Given the description of an element on the screen output the (x, y) to click on. 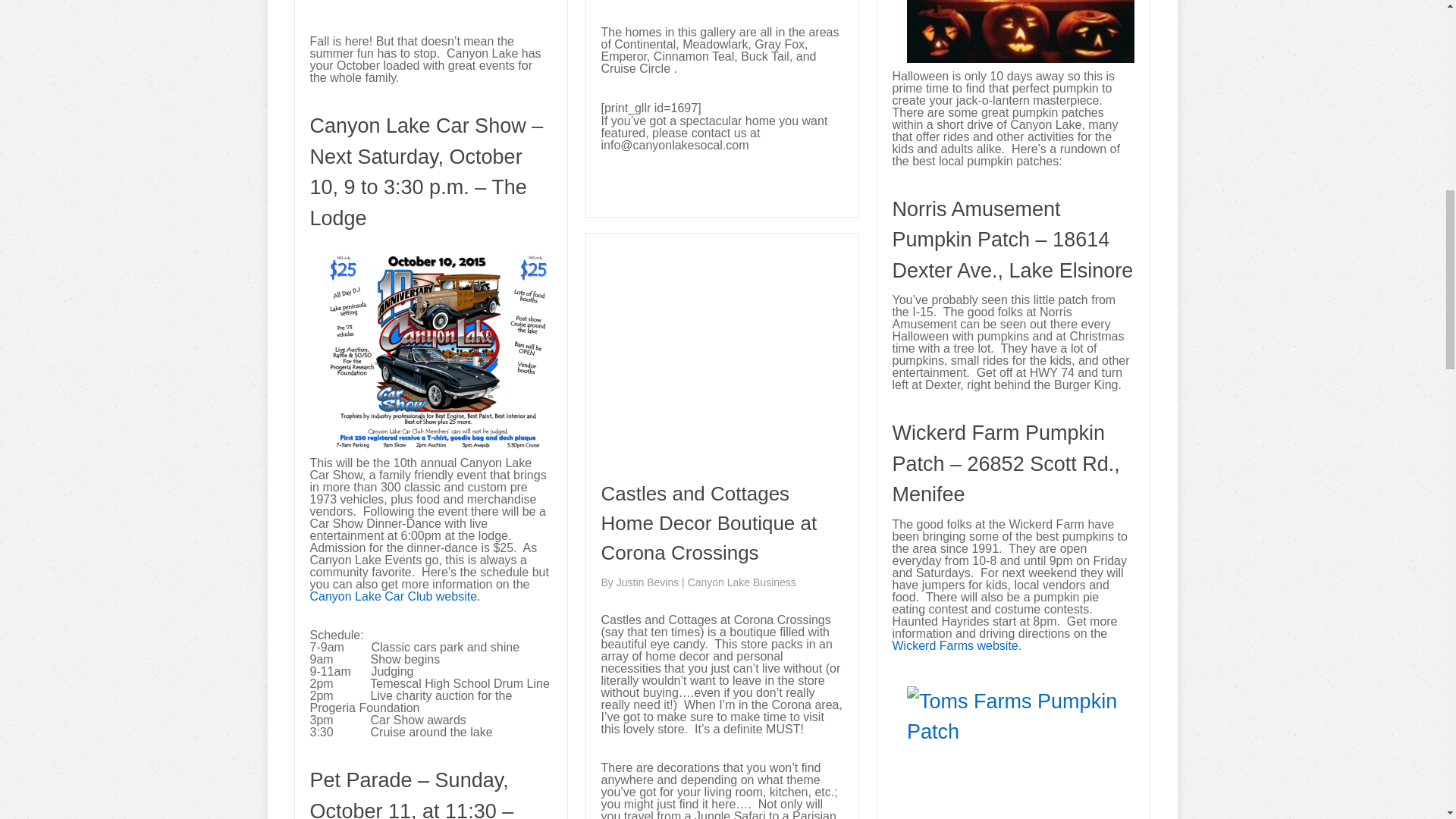
Canyon Lake Car Club website. (394, 595)
Castles and Cottages Home Decor Boutique at Corona Crossings (707, 523)
Wickerd Farms Pumpkin Patch (954, 644)
Wickerd Farms website (954, 644)
Justin Bevins (648, 582)
